Given the description of an element on the screen output the (x, y) to click on. 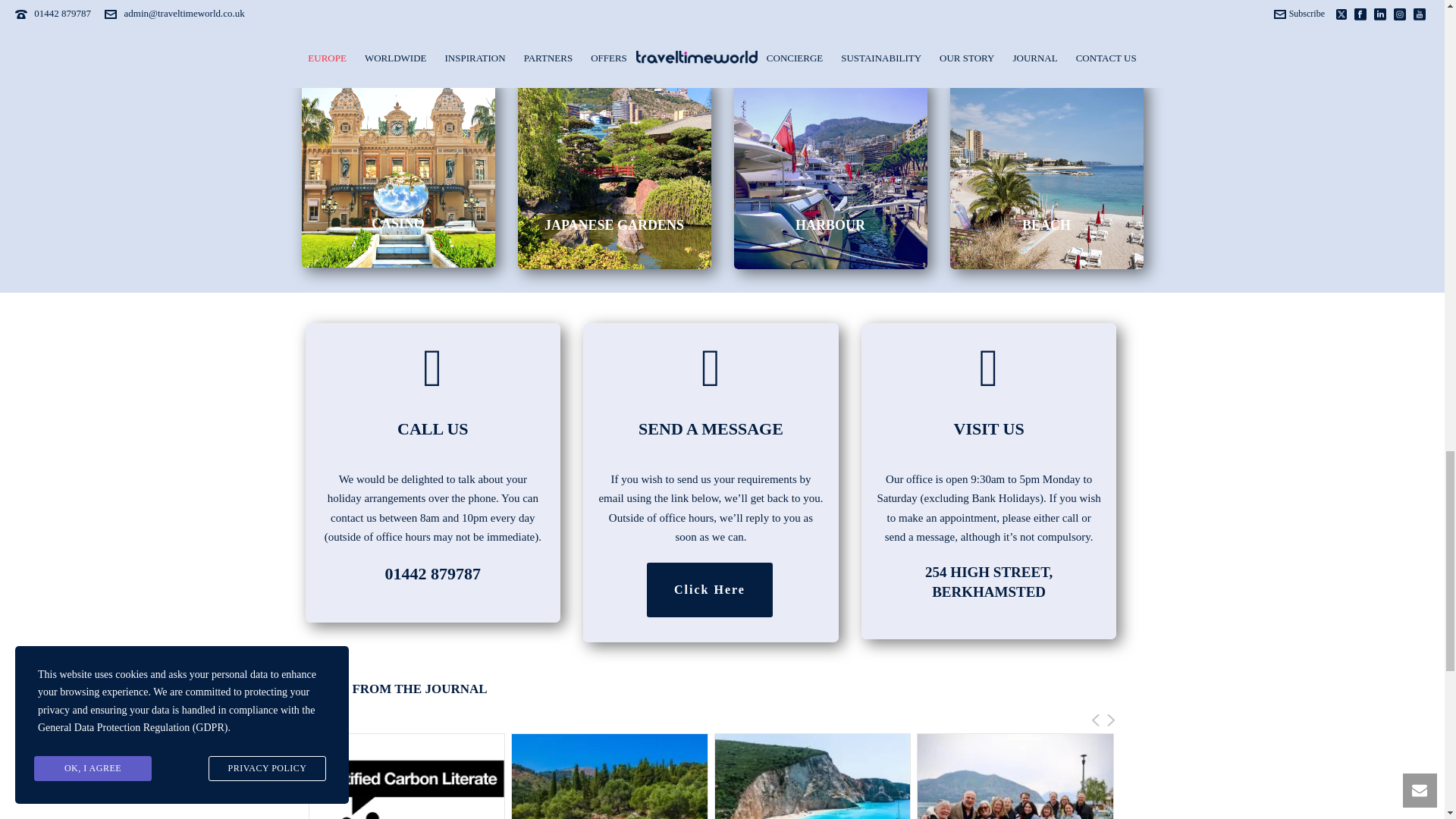
Ashley Certified Carbon Literate (406, 776)
Click Here (709, 589)
Top 5 things to do in Lefkada (812, 776)
Why a Group or Escorted Tour? (1015, 776)
Top 5 things to do in Zakynthos (609, 776)
